Given the description of an element on the screen output the (x, y) to click on. 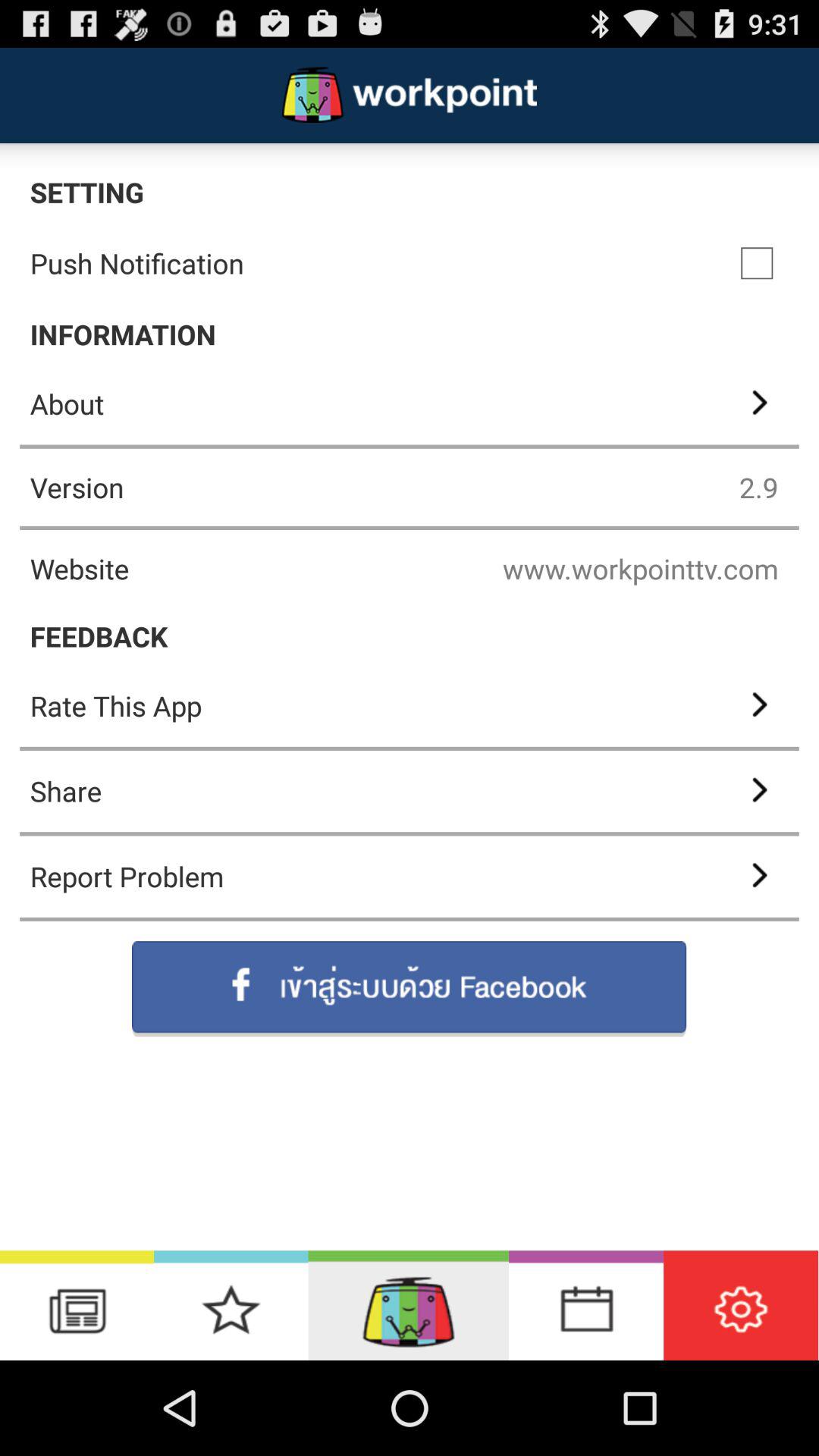
show favorites (231, 1305)
